Given the description of an element on the screen output the (x, y) to click on. 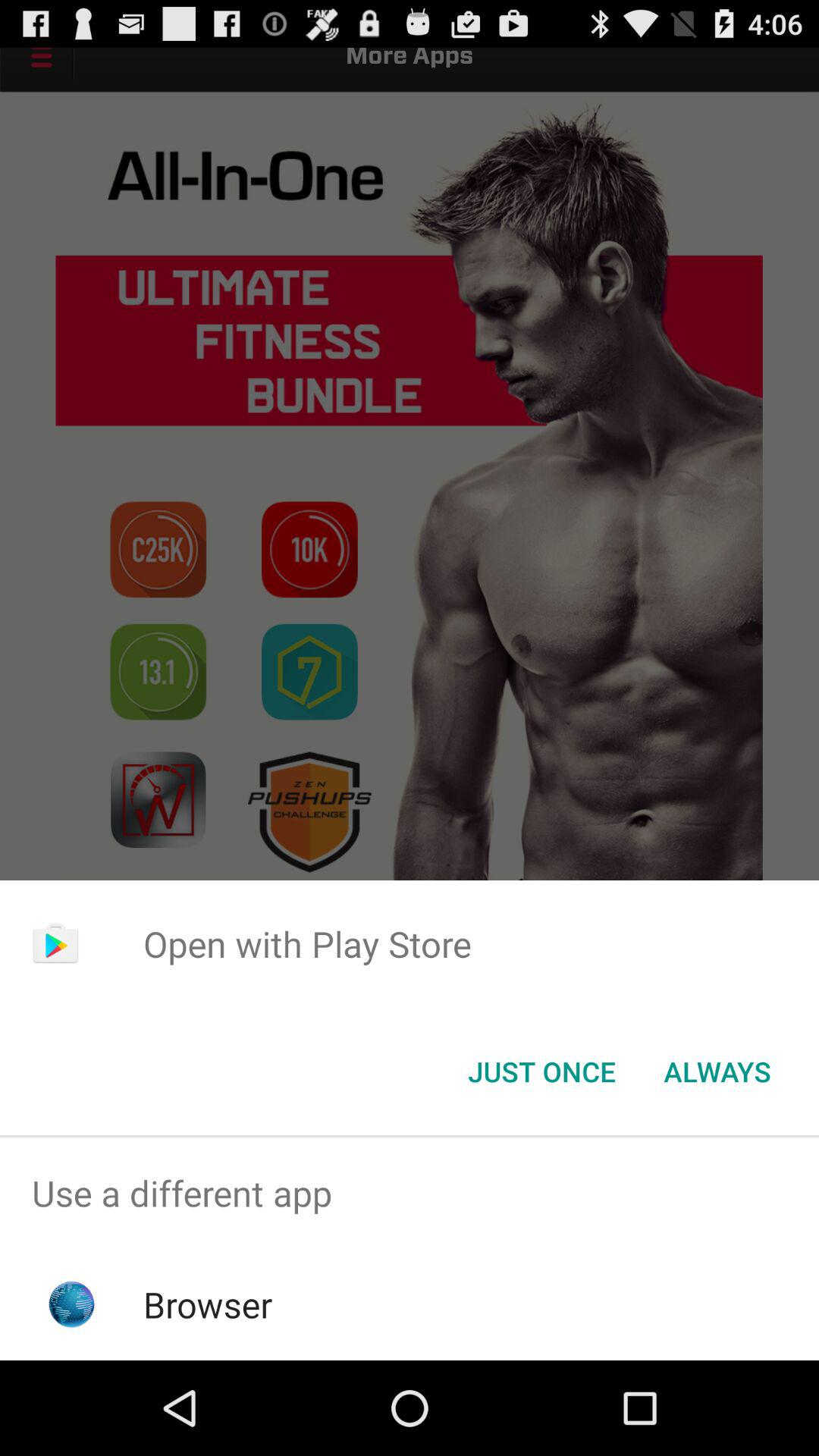
swipe until browser (207, 1304)
